Given the description of an element on the screen output the (x, y) to click on. 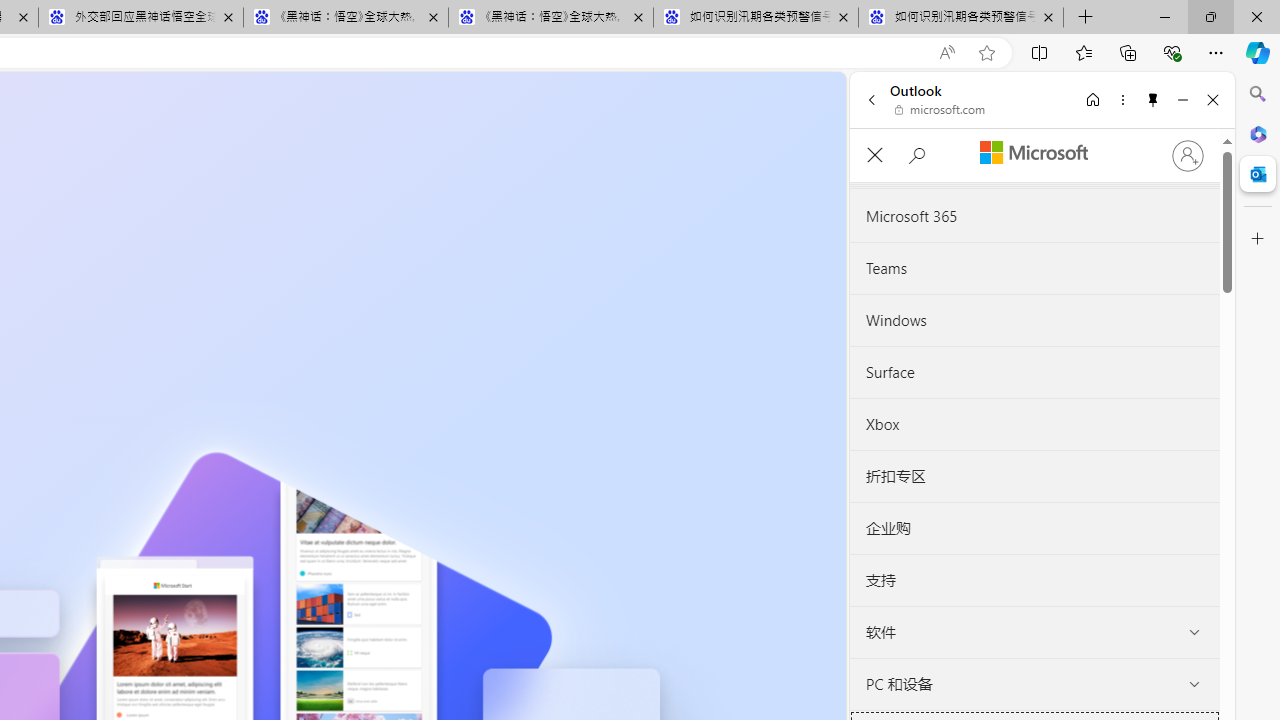
Close All Microsoft list (874, 155)
microsoft.com (940, 110)
